Given the description of an element on the screen output the (x, y) to click on. 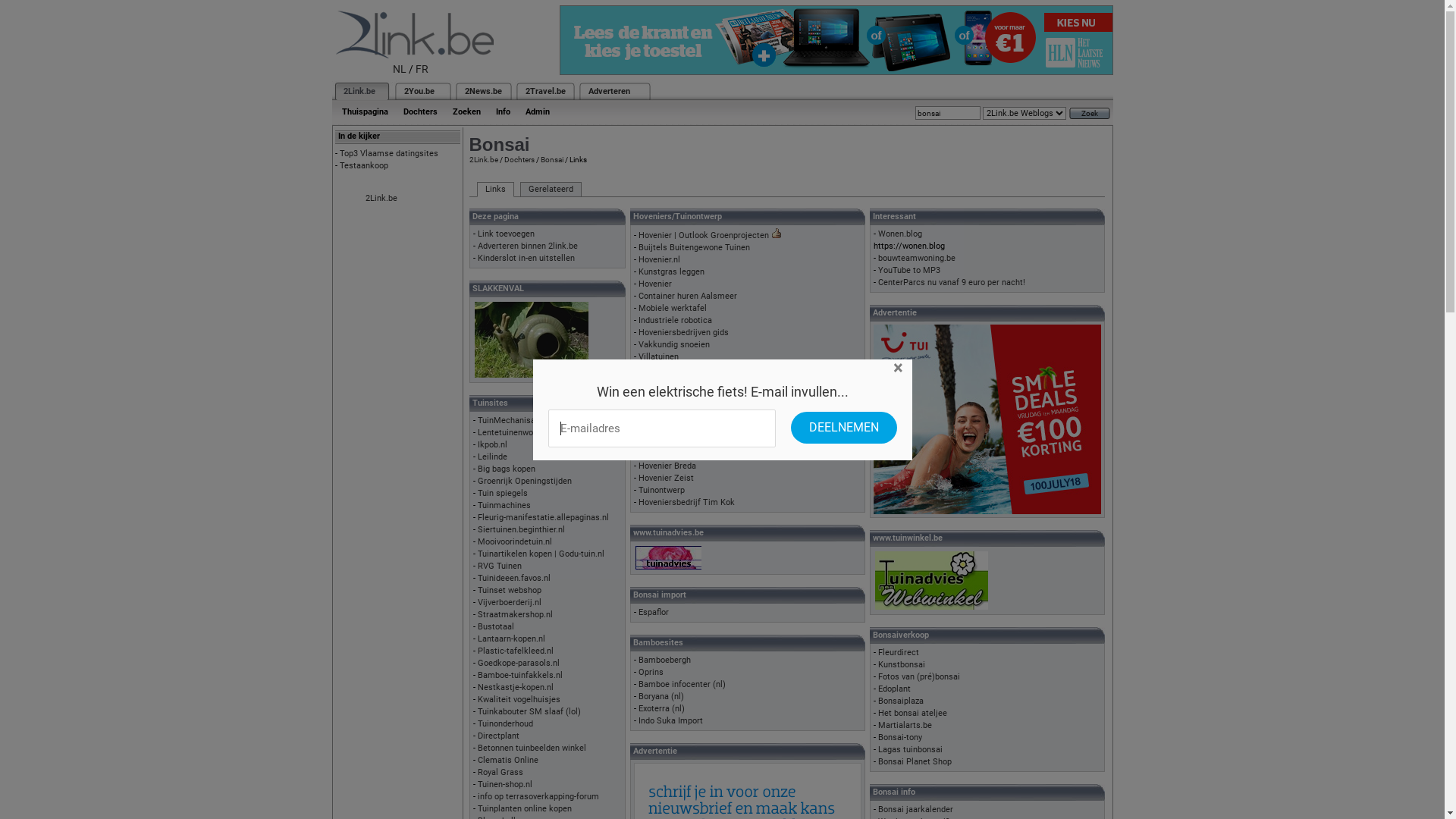
Bonsai jaarkalender Element type: text (915, 809)
Hovenier.nl Element type: text (659, 259)
Kinderslot in-en uitstellen Element type: text (525, 258)
Testaankoop Element type: text (363, 165)
Siertuinen.beginthier.nl Element type: text (520, 529)
2Link.be Element type: text (358, 91)
Flow pack machine Element type: text (674, 417)
Hovenier | Outlook Groenprojecten Element type: text (703, 235)
Oprins Element type: text (650, 672)
Hovenier Bodegraven Element type: text (678, 368)
Straatmakershop.nl Element type: text (514, 614)
Industriele robotica Element type: text (675, 320)
YouTube to MP3 Element type: text (909, 270)
2You.be Element type: text (418, 91)
Tuinplanten online kopen Element type: text (524, 808)
FR Element type: text (421, 68)
Buijtels Buitengewone Tuinen Element type: text (693, 247)
Bonsai Element type: text (550, 159)
Container huren Aalsmeer Element type: text (687, 296)
Tuinen-shop.nl Element type: text (504, 784)
Bonsai-tony Element type: text (900, 737)
Het bonsai ateljee Element type: text (912, 713)
Bamboebergh Element type: text (664, 660)
Tuinaanleg Dilbeek Element type: text (673, 453)
bouwteamwoning.be Element type: text (916, 258)
2Link.be Element type: text (381, 198)
RVG Tuinen Element type: text (499, 566)
Vijverboerderij.nl Element type: text (509, 602)
Hoveniersbedrijven gids Element type: text (683, 332)
Lantaarn-kopen.nl Element type: text (511, 638)
Espaflor Element type: text (653, 612)
Amolenaar.nl Element type: text (662, 393)
2Travel.be Element type: text (544, 91)
Kwaliteit vogelhuisjes Element type: text (518, 699)
Royal Grass Element type: text (500, 772)
Villatuinen Element type: text (658, 356)
Kunstgras leggen Element type: text (671, 271)
Leilinde Element type: text (492, 456)
Top3 Vlaamse datingsites Element type: text (388, 153)
Bamboe infocenter (nl) Element type: text (681, 684)
Dochters Element type: text (420, 111)
Plastic-tafelkleed.nl Element type: text (515, 650)
Tuinideeen.favos.nl Element type: text (513, 578)
Hovenier Element type: text (654, 283)
Boryana (nl) Element type: text (661, 696)
Thuispagina Element type: text (364, 111)
Adverteren Element type: text (609, 91)
Lentetuinenwoonbeurs.nl Element type: text (524, 432)
Hovenier Breda Element type: text (667, 465)
Clematis Online Element type: text (507, 760)
CenterParcs nu vanaf 9 euro per nacht! Element type: text (951, 282)
Tuinkabouter SM slaaf (lol) Element type: text (528, 711)
Zoeken Element type: text (465, 111)
Schutting online kopen Element type: text (681, 405)
Nestkastje-kopen.nl Element type: text (515, 687)
Tuinset webshop Element type: text (509, 590)
straatmakershop.nl Element type: text (675, 429)
Martialarts.be Element type: text (904, 725)
Kunstbonsai Element type: text (901, 664)
Indo Suka Import Element type: text (670, 720)
Tuinonderhoud Element type: text (505, 723)
TuinMechanisatie Element type: text (511, 420)
Info Element type: text (502, 111)
Hovenier Zeist Element type: text (665, 478)
Fleurig-manifestatie.allepaginas.nl Element type: text (542, 517)
Bustotaal Element type: text (495, 626)
Big bags kopen Element type: text (506, 468)
Hoveniersbedrijf Tim Kok Element type: text (686, 502)
Adverteren binnen 2link.be Element type: text (527, 246)
Mooivoorindetuin.nl Element type: text (514, 541)
Tuinontwerp Element type: text (661, 490)
Lagas tuinbonsai Element type: text (910, 749)
Zoek Element type: text (1089, 113)
Vakkundig snoeien Element type: text (673, 344)
Bonsaiplaza Element type: text (900, 701)
Tuin spiegels Element type: text (502, 493)
Ikpob.nl Element type: text (492, 444)
NL Element type: text (399, 68)
Link toevoegen Element type: text (505, 233)
Links Element type: text (494, 189)
Fleurdirect Element type: text (898, 652)
Groenrijk Openingstijden Element type: text (524, 481)
2News.be Element type: text (482, 91)
2Link.be Element type: text (482, 159)
Tuinmachines Element type: text (503, 505)
Bamboe-tuinfakkels.nl Element type: text (519, 675)
info op terrasoverkapping-forum Element type: text (538, 796)
Mobiele werktafel Element type: text (672, 308)
Goedkope-parasols.nl Element type: text (518, 663)
Directplant Element type: text (498, 735)
Gerelateerd Element type: text (550, 189)
Exoterra (nl) Element type: text (661, 708)
Tuinmanofferte.nl Element type: text (672, 441)
Edoplant Element type: text (894, 688)
Hovenier Hellevoetsluis Element type: text (683, 380)
Betonnen tuinbeelden winkel Element type: text (531, 748)
Bonsai Planet Shop Element type: text (914, 761)
Wonen.blog Element type: text (900, 233)
Admin Element type: text (536, 111)
Dochters Element type: text (518, 159)
Tuinartikelen kopen | Godu-tuin.nl Element type: text (540, 553)
